Given the description of an element on the screen output the (x, y) to click on. 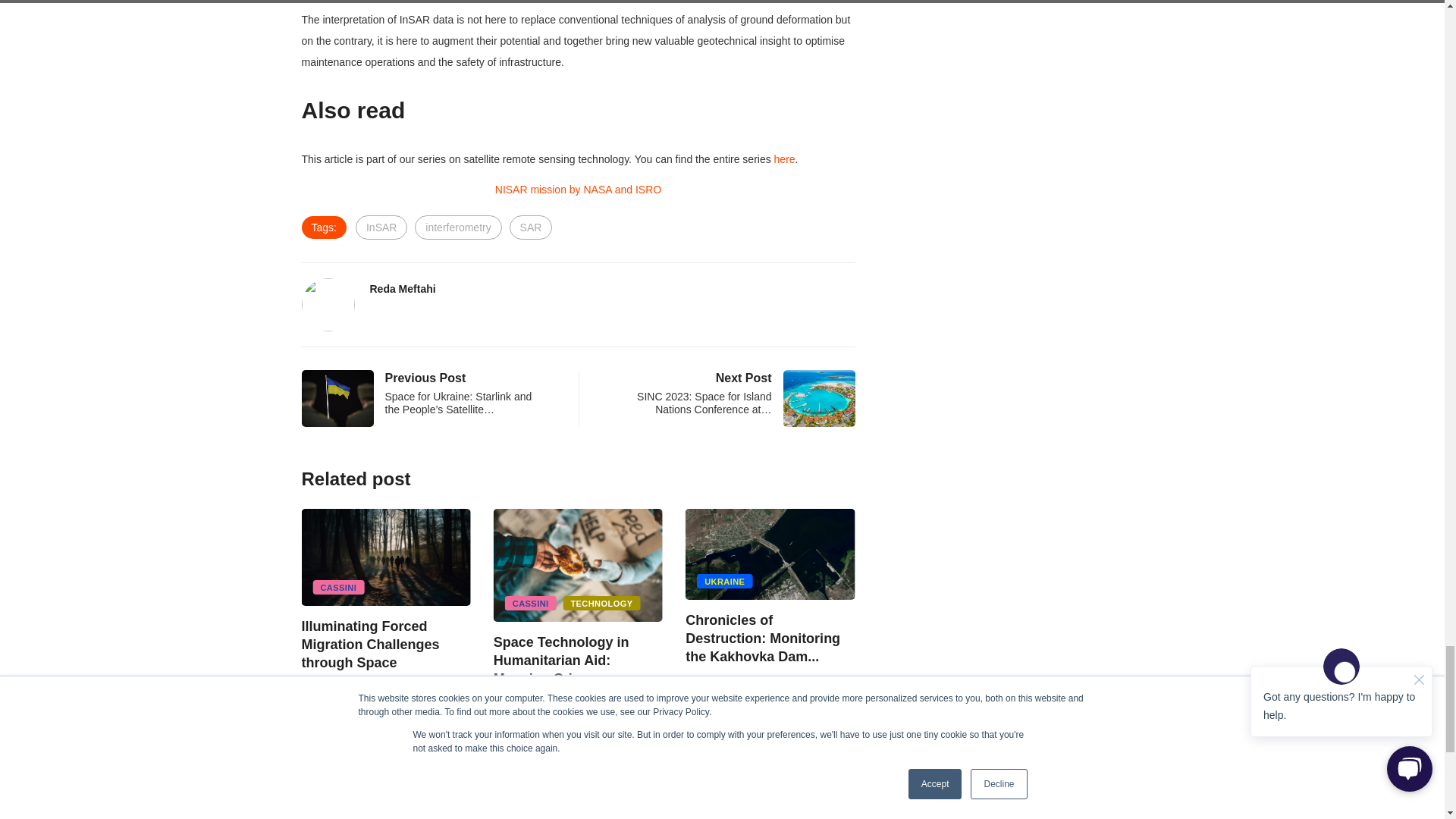
InSAR (381, 227)
interferometry (457, 227)
SAR (531, 227)
NISAR mission by NASA and ISRO (578, 189)
here (784, 159)
